Given the description of an element on the screen output the (x, y) to click on. 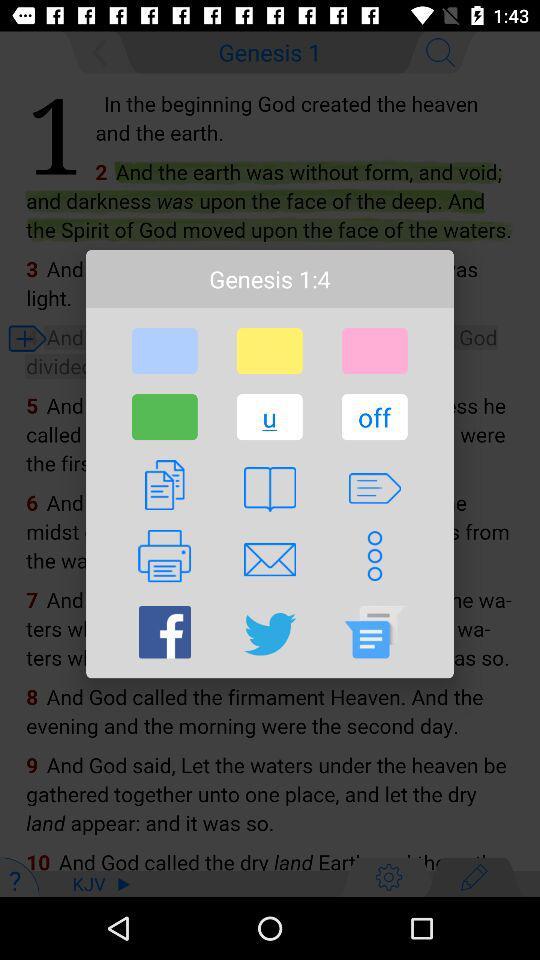
flip to off item (374, 417)
